Given the description of an element on the screen output the (x, y) to click on. 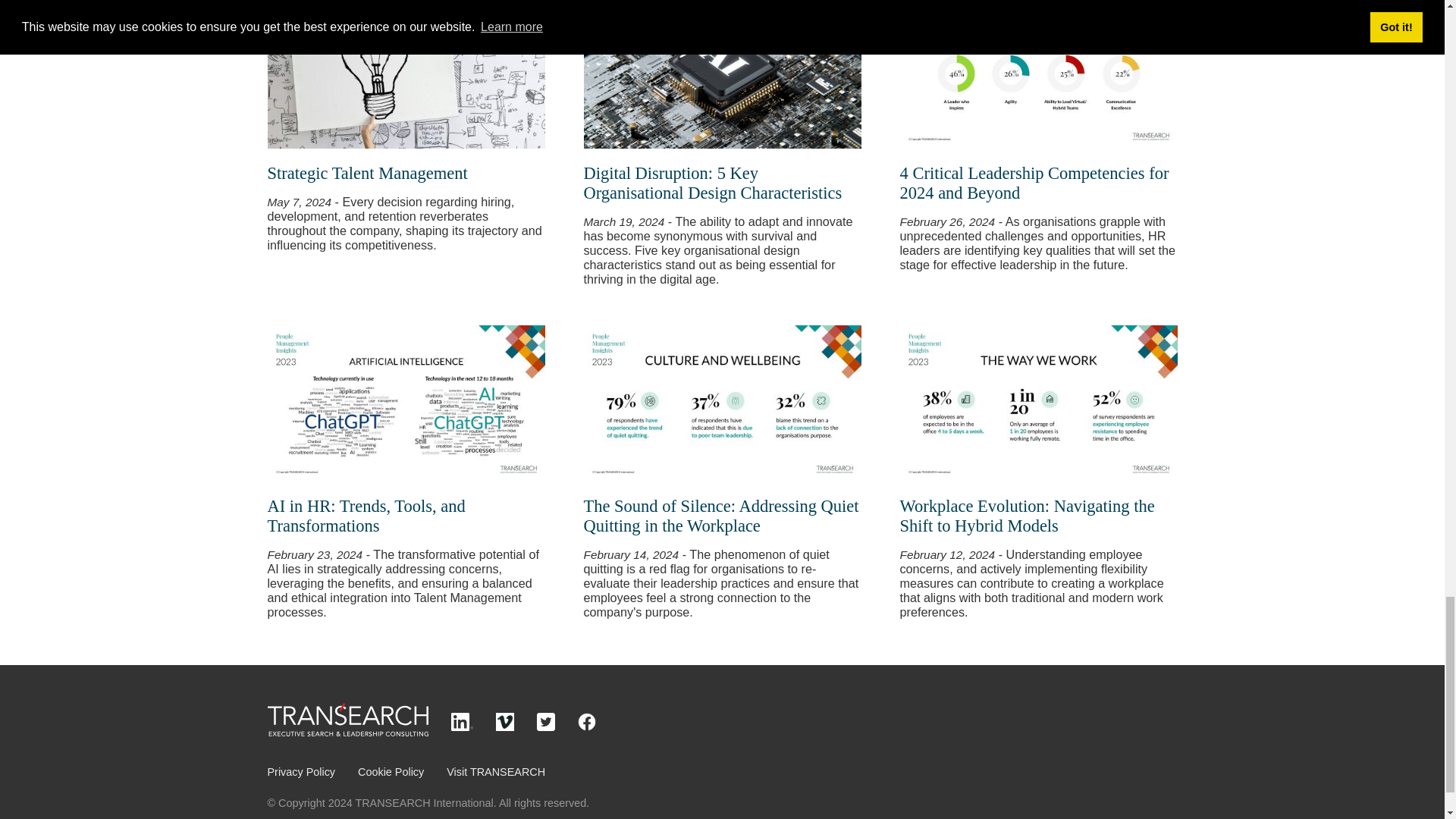
TRANSEARCH International (347, 732)
Privacy Policy (300, 771)
TRANSEARCH International on Vimeo (504, 727)
Visit TRANSEARCH (495, 771)
TRANSEARCH International on Twitter (545, 727)
Cookie Policy (390, 771)
